Given the description of an element on the screen output the (x, y) to click on. 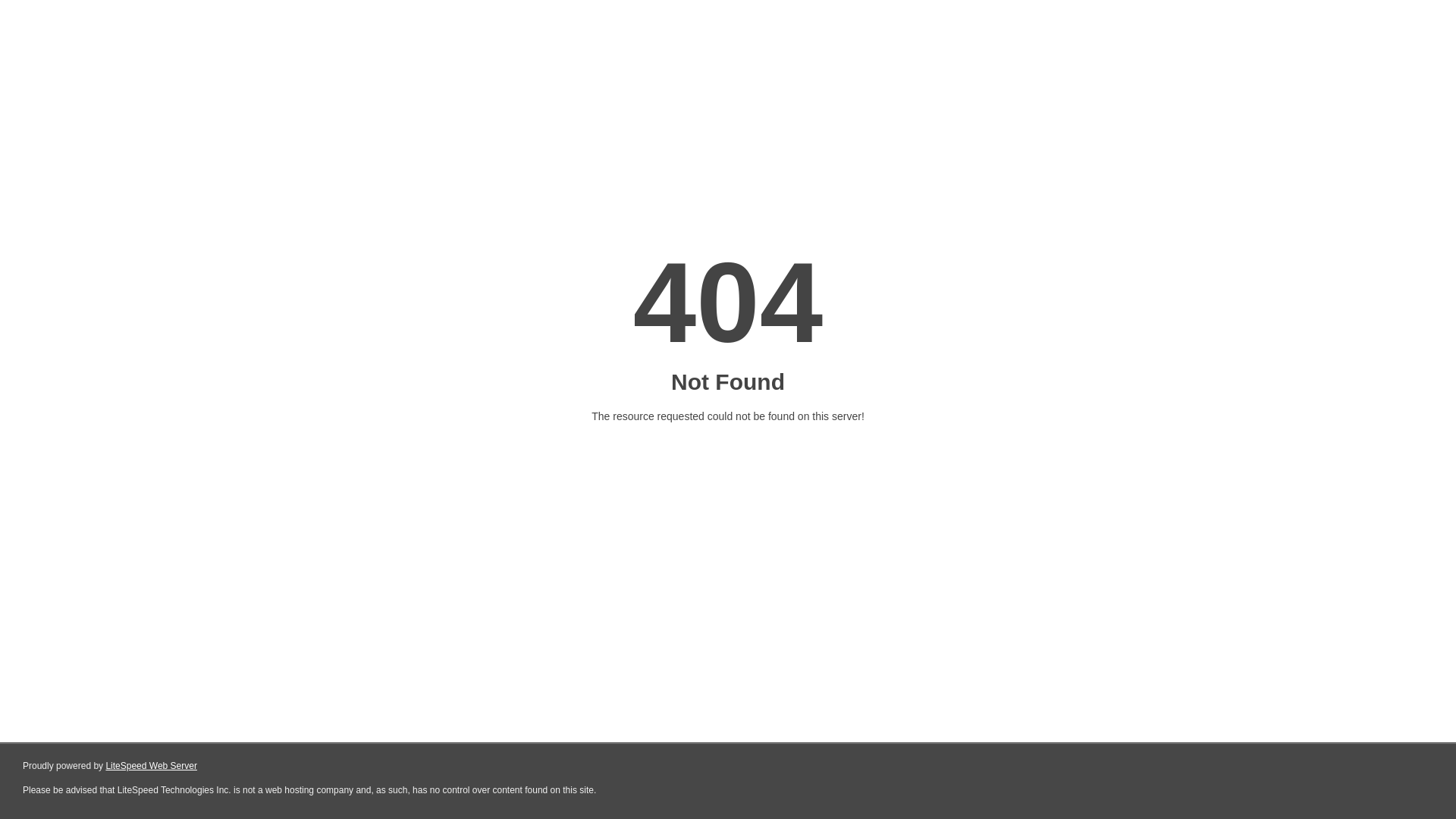
LiteSpeed Web Server Element type: text (151, 765)
